Given the description of an element on the screen output the (x, y) to click on. 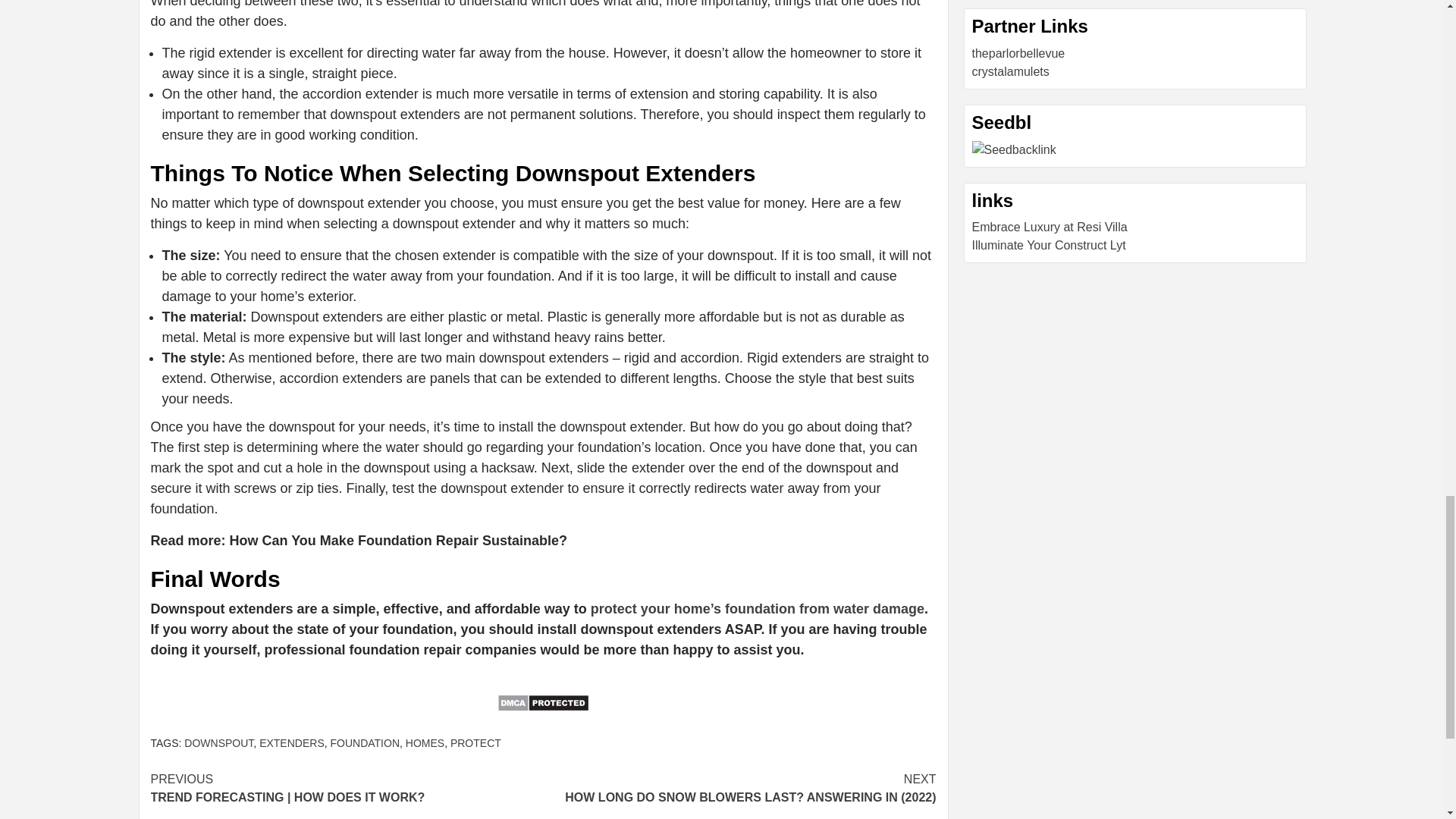
HOMES (425, 743)
PROTECT (474, 743)
EXTENDERS (291, 743)
FOUNDATION (365, 743)
DOWNSPOUT (218, 743)
DMCA.com Protection Status (543, 712)
